Given the description of an element on the screen output the (x, y) to click on. 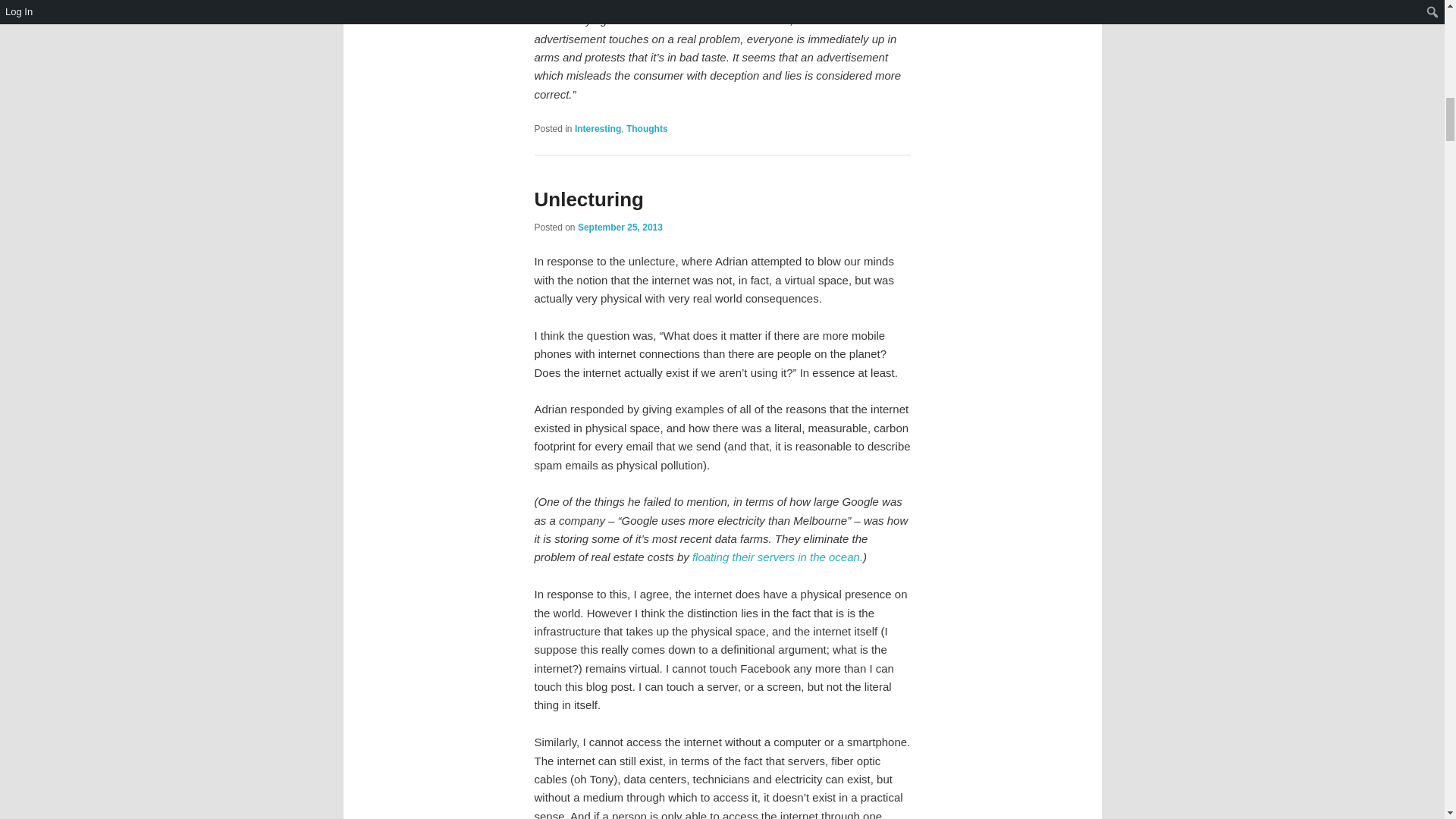
floating their servers in the ocean. (778, 556)
3:01 pm (620, 226)
Thoughts (647, 128)
September 25, 2013 (620, 226)
Interesting (598, 128)
Unlecturing (588, 199)
Permalink to Unlecturing (588, 199)
